Given the description of an element on the screen output the (x, y) to click on. 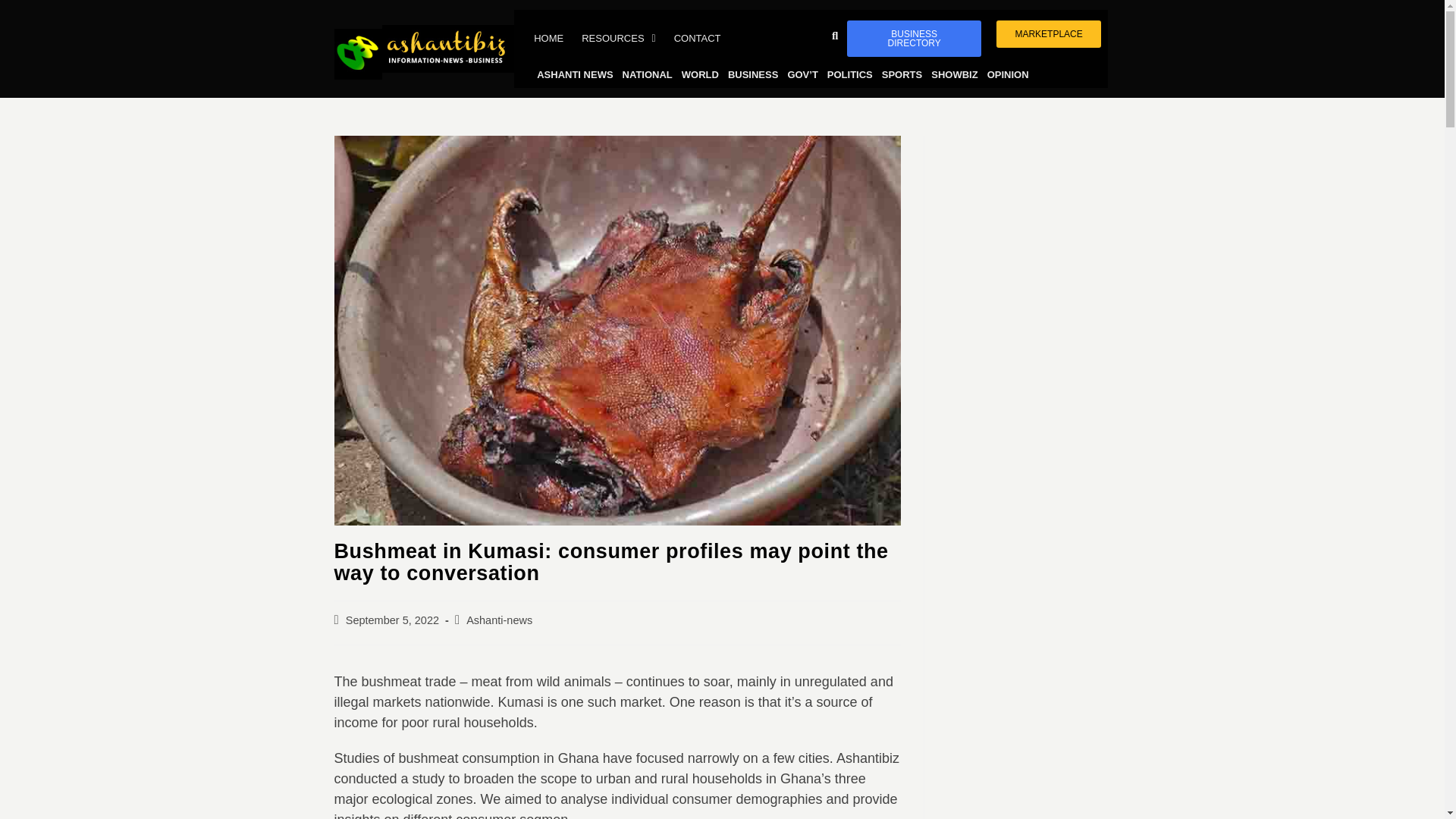
BUSINESS DIRECTORY (914, 38)
ASHANTI NEWS (574, 74)
WORLD (700, 74)
CONTACT (697, 38)
SHOWBIZ (953, 74)
Search (815, 35)
OPINION (1007, 74)
POLITICS (849, 74)
HOME (548, 38)
SPORTS (901, 74)
